Given the description of an element on the screen output the (x, y) to click on. 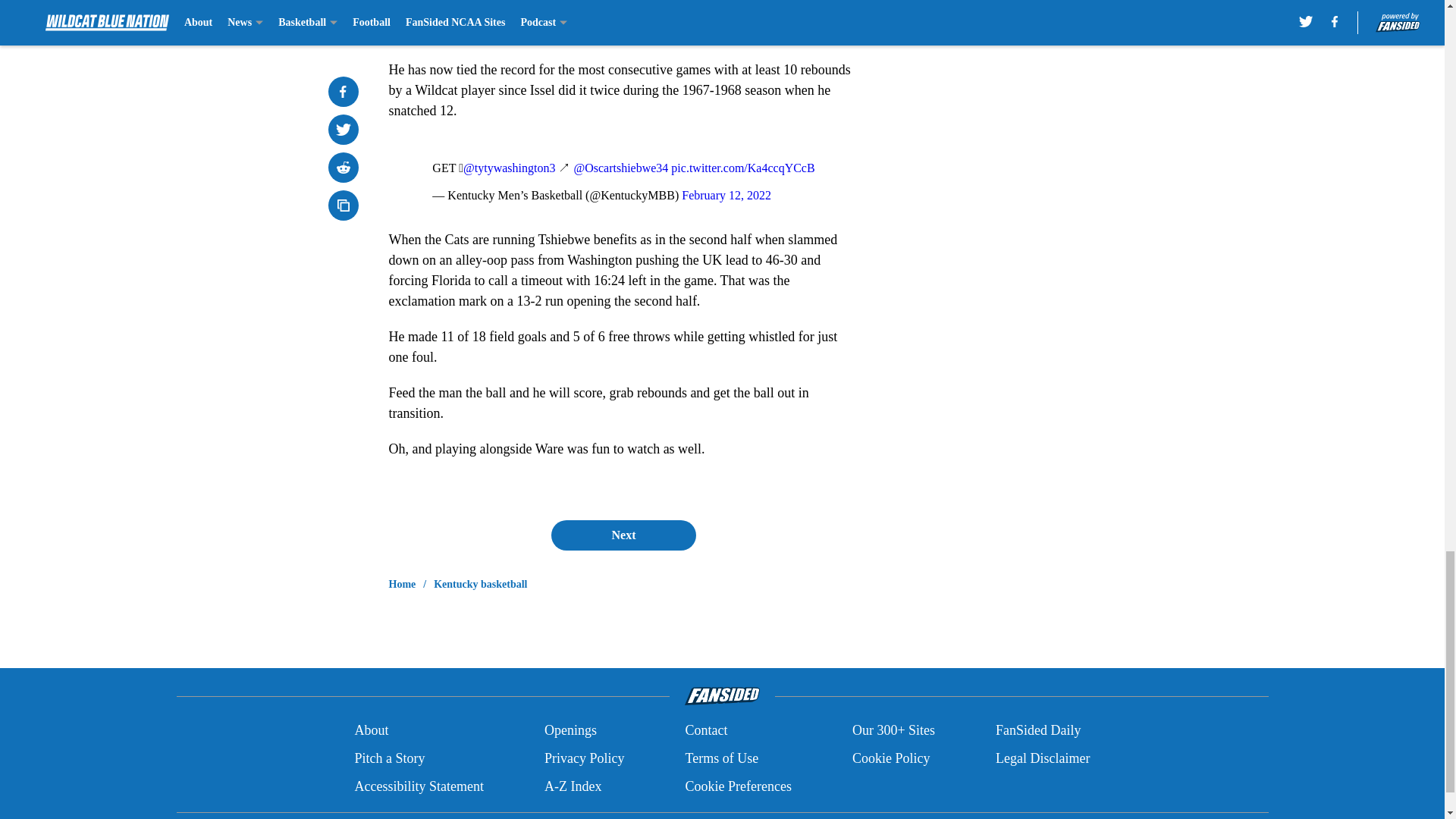
Legal Disclaimer (1042, 758)
About (370, 730)
Next (622, 535)
February 12, 2022 (726, 195)
Pitch a Story (389, 758)
Cookie Policy (890, 758)
Kentucky basketball (480, 584)
Terms of Use (721, 758)
Contact (705, 730)
FanSided Daily (1038, 730)
